Given the description of an element on the screen output the (x, y) to click on. 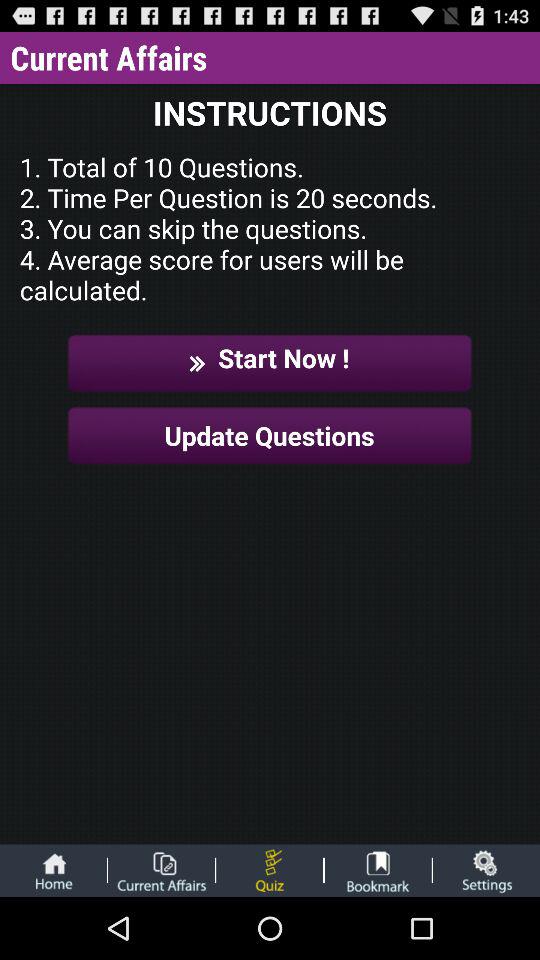
app quiz (269, 870)
